Given the description of an element on the screen output the (x, y) to click on. 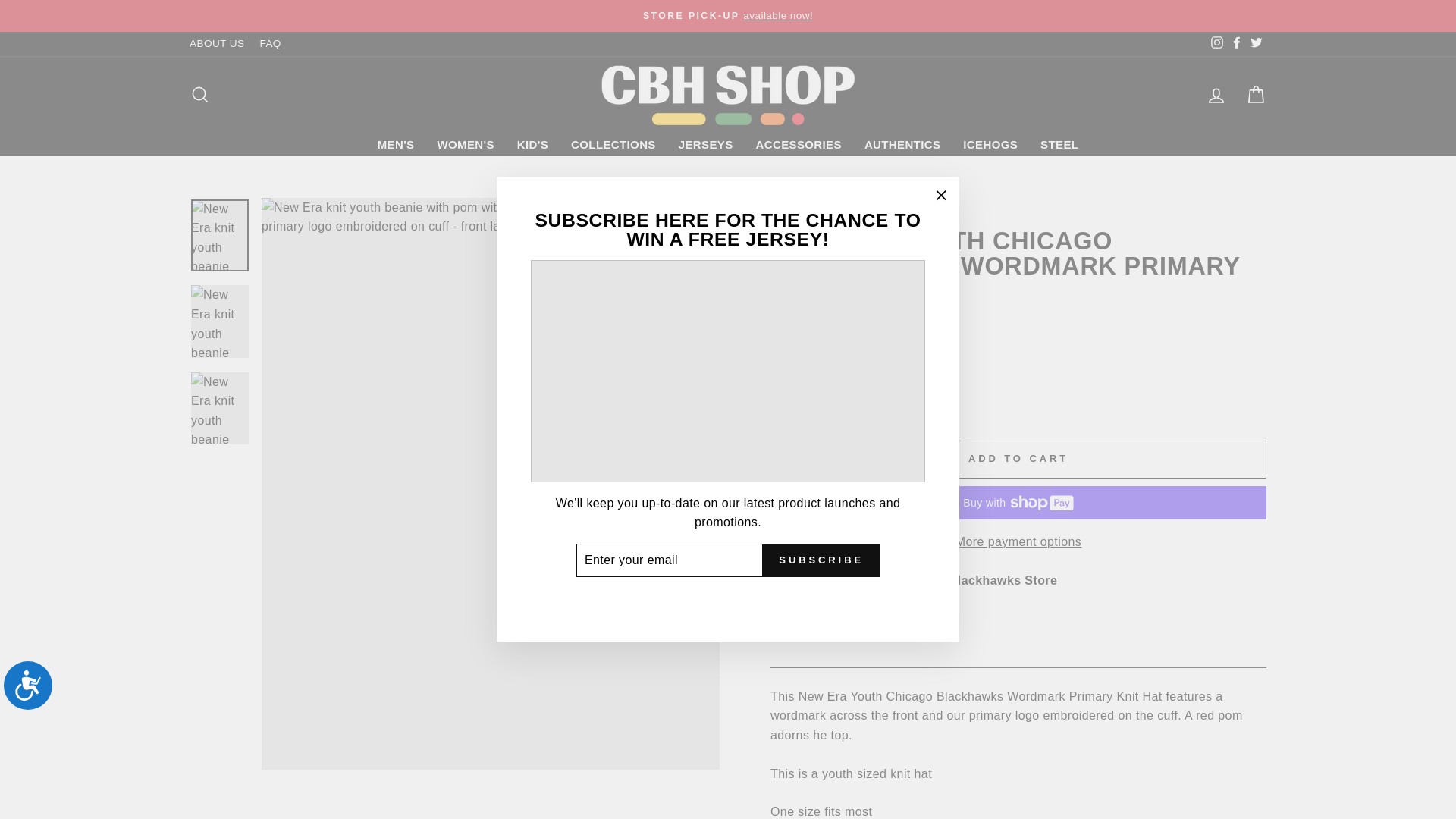
Accessibility (34, 690)
Back to the frontpage (784, 213)
